Given the description of an element on the screen output the (x, y) to click on. 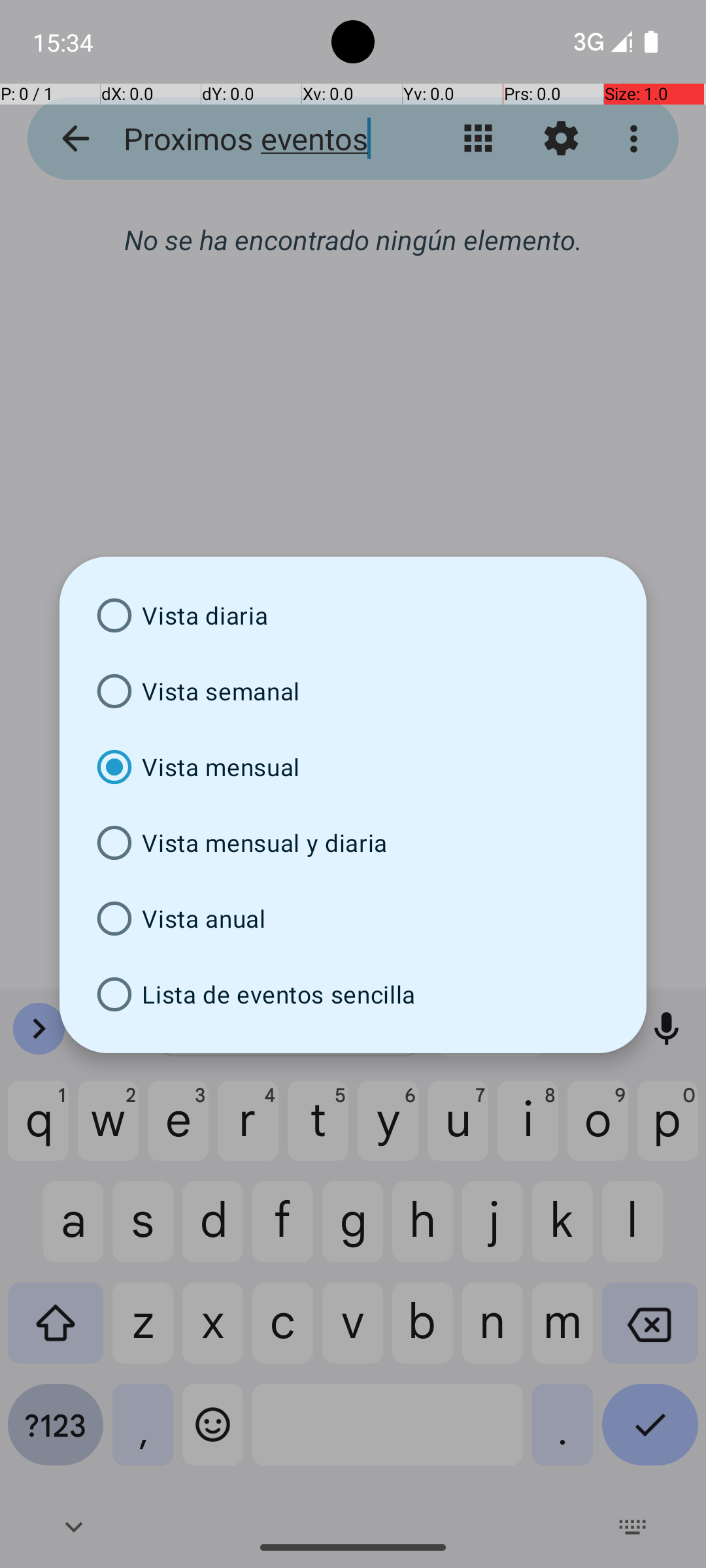
Vista diaria Element type: android.widget.RadioButton (352, 615)
Vista semanal Element type: android.widget.RadioButton (352, 691)
Vista mensual Element type: android.widget.RadioButton (352, 766)
Vista mensual y diaria Element type: android.widget.RadioButton (352, 842)
Vista anual Element type: android.widget.RadioButton (352, 918)
Lista de eventos sencilla Element type: android.widget.RadioButton (352, 994)
